Given the description of an element on the screen output the (x, y) to click on. 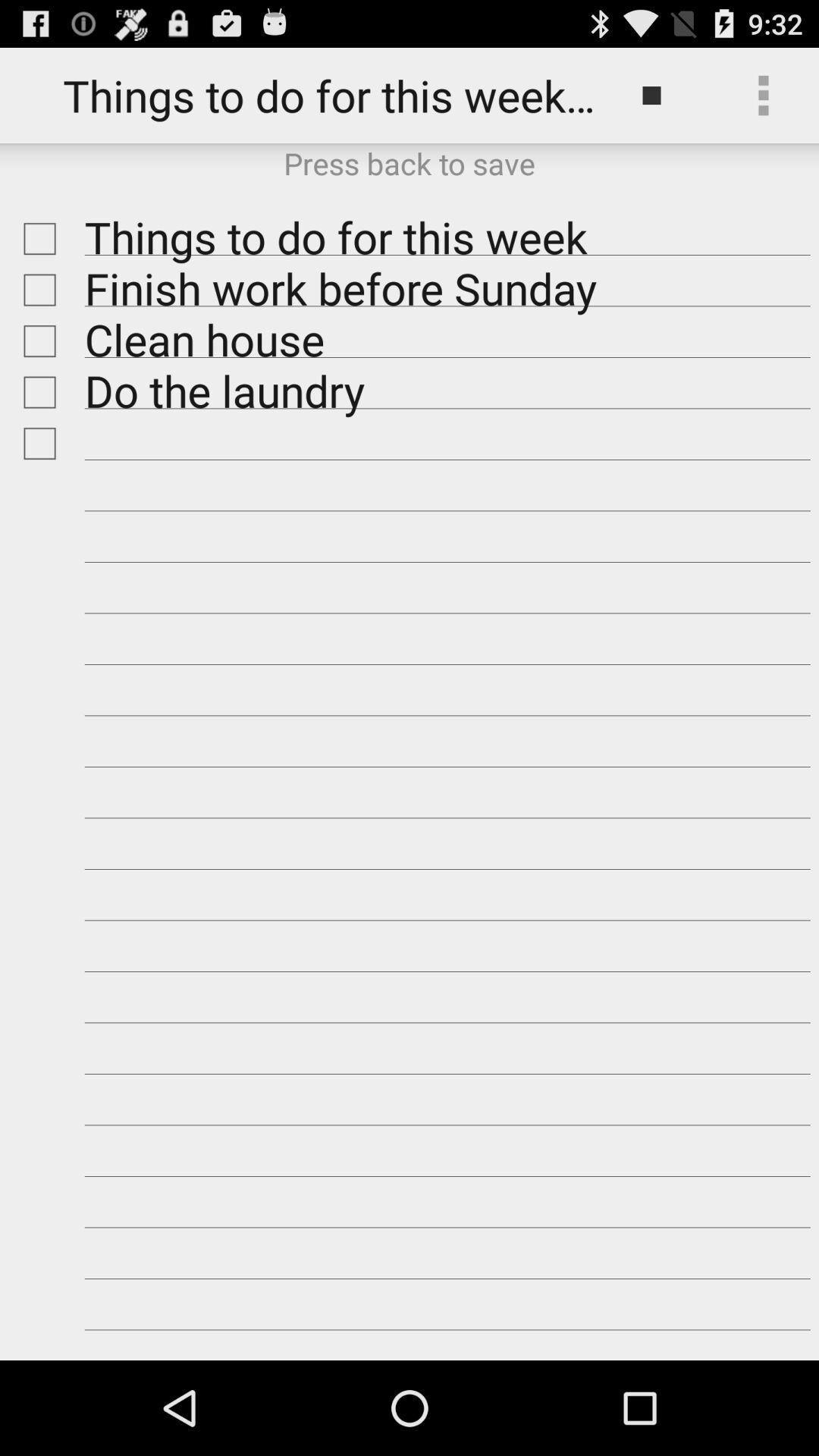
enter new task (35, 443)
